Given the description of an element on the screen output the (x, y) to click on. 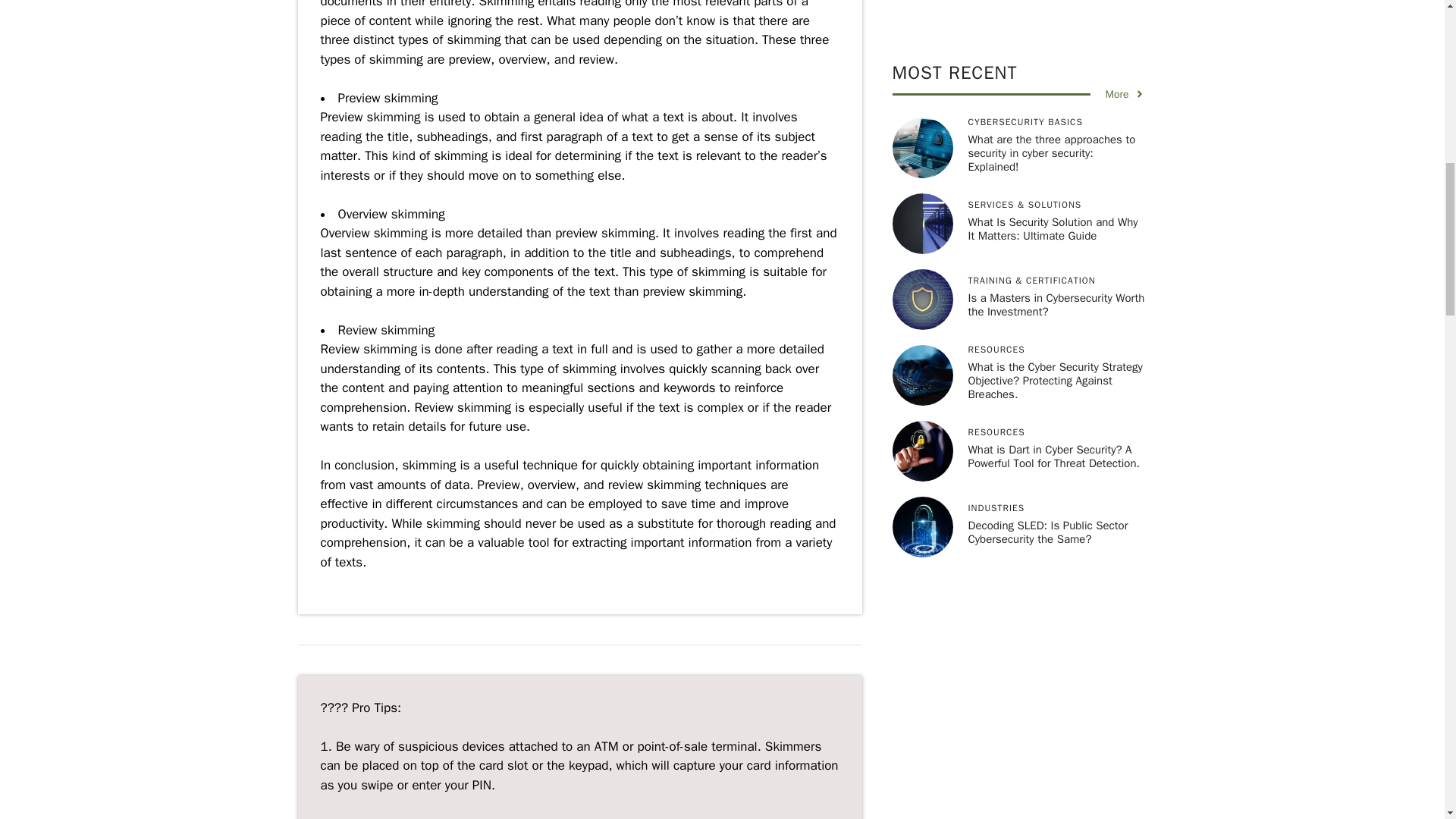
Decoding SLED: Is Public Sector Cybersecurity the Same? (1047, 122)
